Given the description of an element on the screen output the (x, y) to click on. 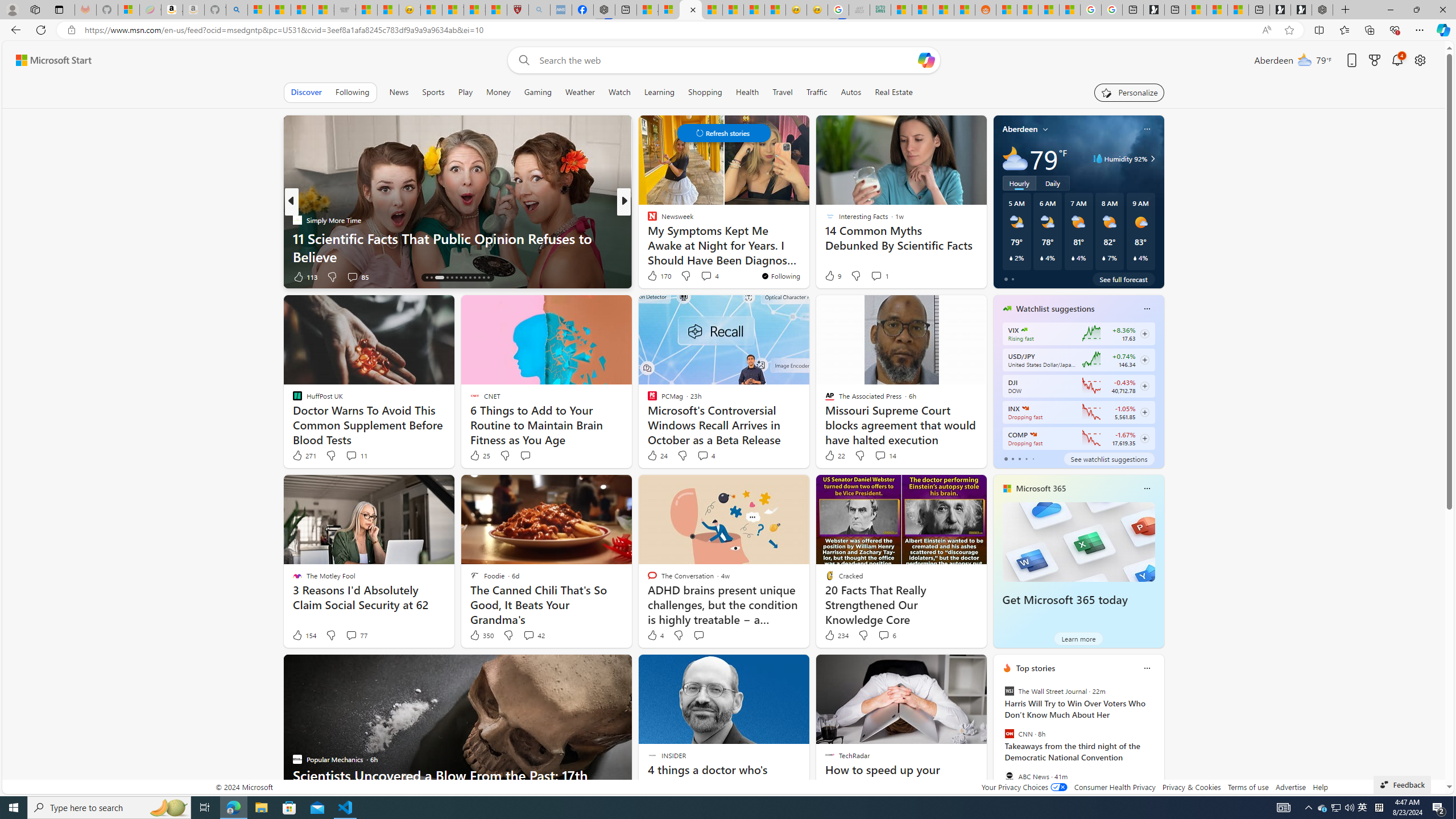
tab-1 (1012, 458)
AutomationID: tab-22 (470, 277)
121 Like (654, 276)
View comments 73 Comment (707, 276)
Digital Trends (647, 219)
Watchlist suggestions (1055, 308)
Stacker (647, 219)
AutomationID: tab-24 (478, 277)
View comments 6 Comment (887, 634)
AutomationID: tab-20 (460, 277)
